Given the description of an element on the screen output the (x, y) to click on. 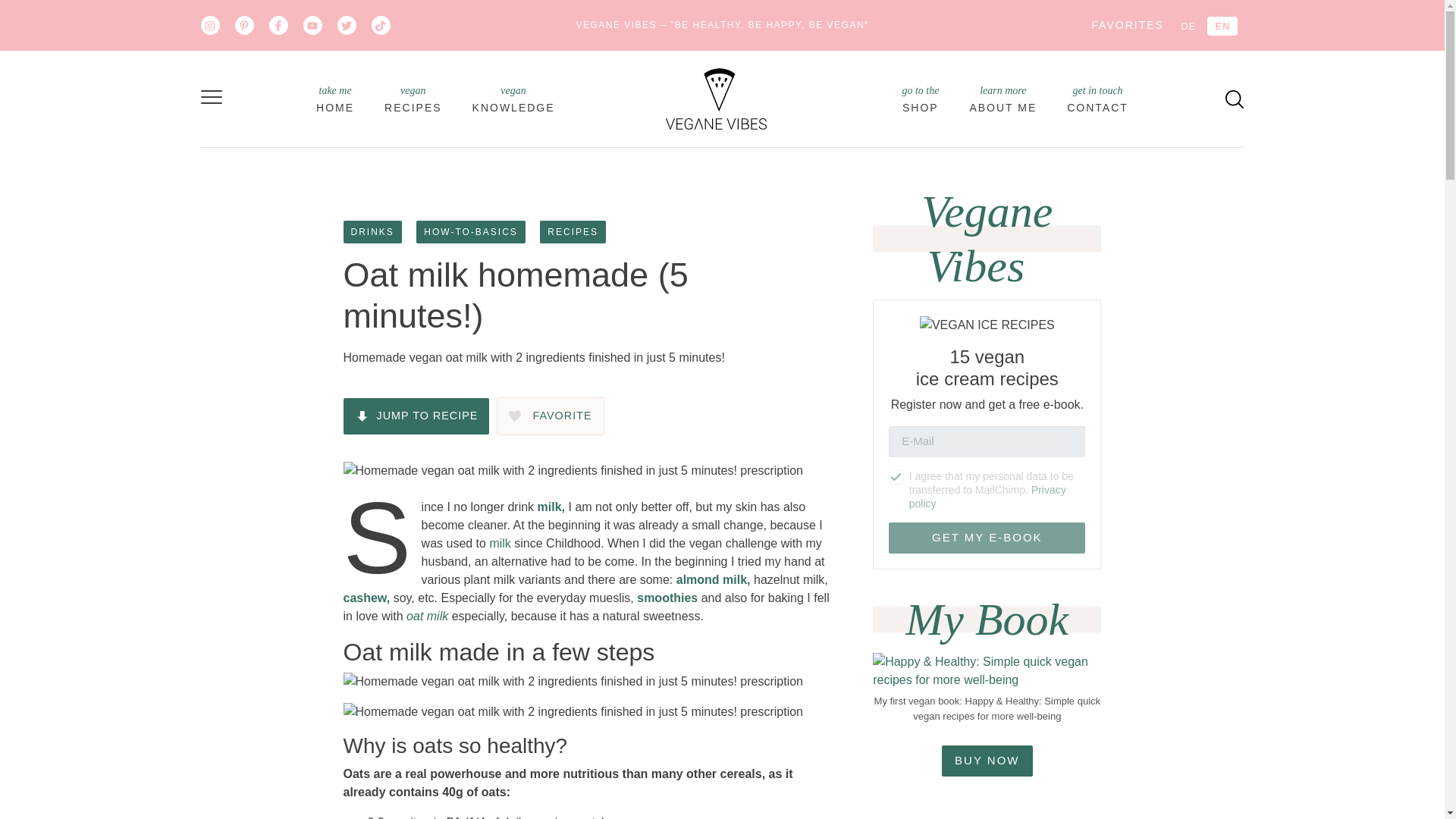
VEGANE VIBES (716, 97)
About Me (1003, 99)
search (1097, 99)
RECIPES (1234, 97)
1 (572, 231)
Shop (896, 477)
Recipes (919, 99)
Get My E-Book (412, 99)
